Given the description of an element on the screen output the (x, y) to click on. 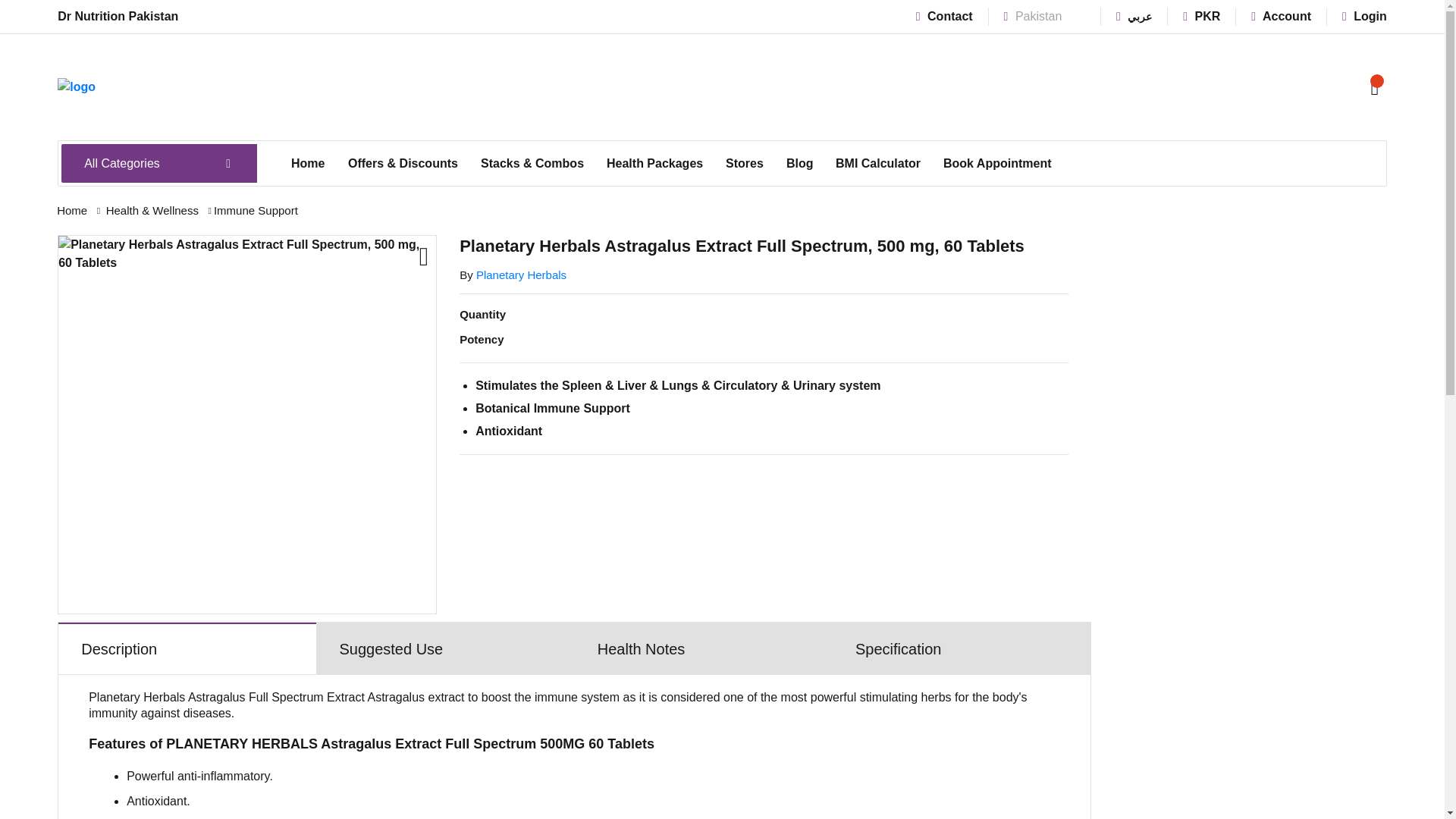
PKR (1201, 16)
Health Packages (654, 163)
Login (1364, 16)
Account (1280, 16)
Contact (943, 16)
Blog (799, 163)
PKR (1201, 16)
Home (307, 163)
Login (1364, 16)
Account (1280, 16)
Stores (744, 163)
Contact (943, 16)
